Given the description of an element on the screen output the (x, y) to click on. 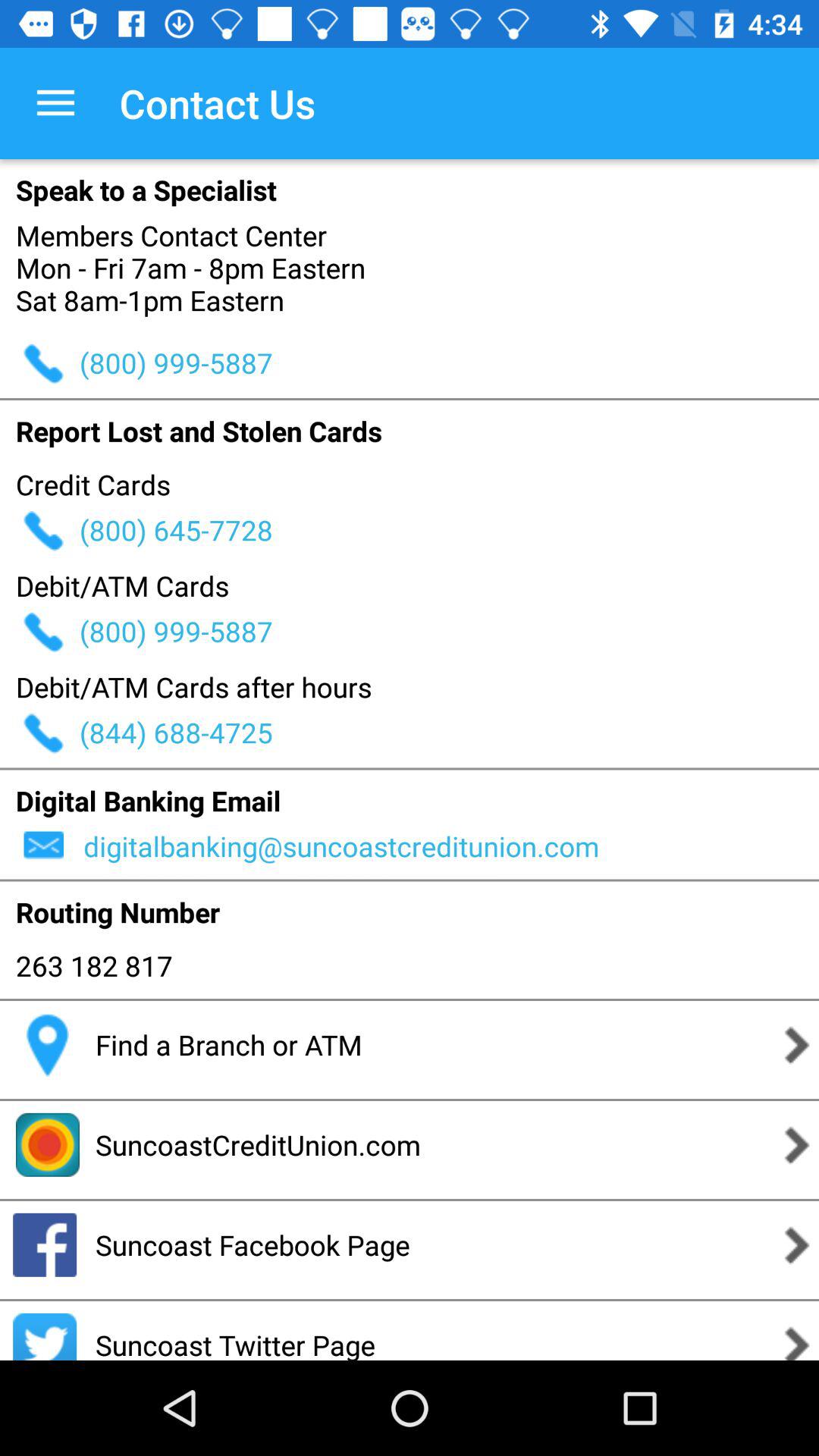
scroll until (844) 688-4725 (449, 732)
